Given the description of an element on the screen output the (x, y) to click on. 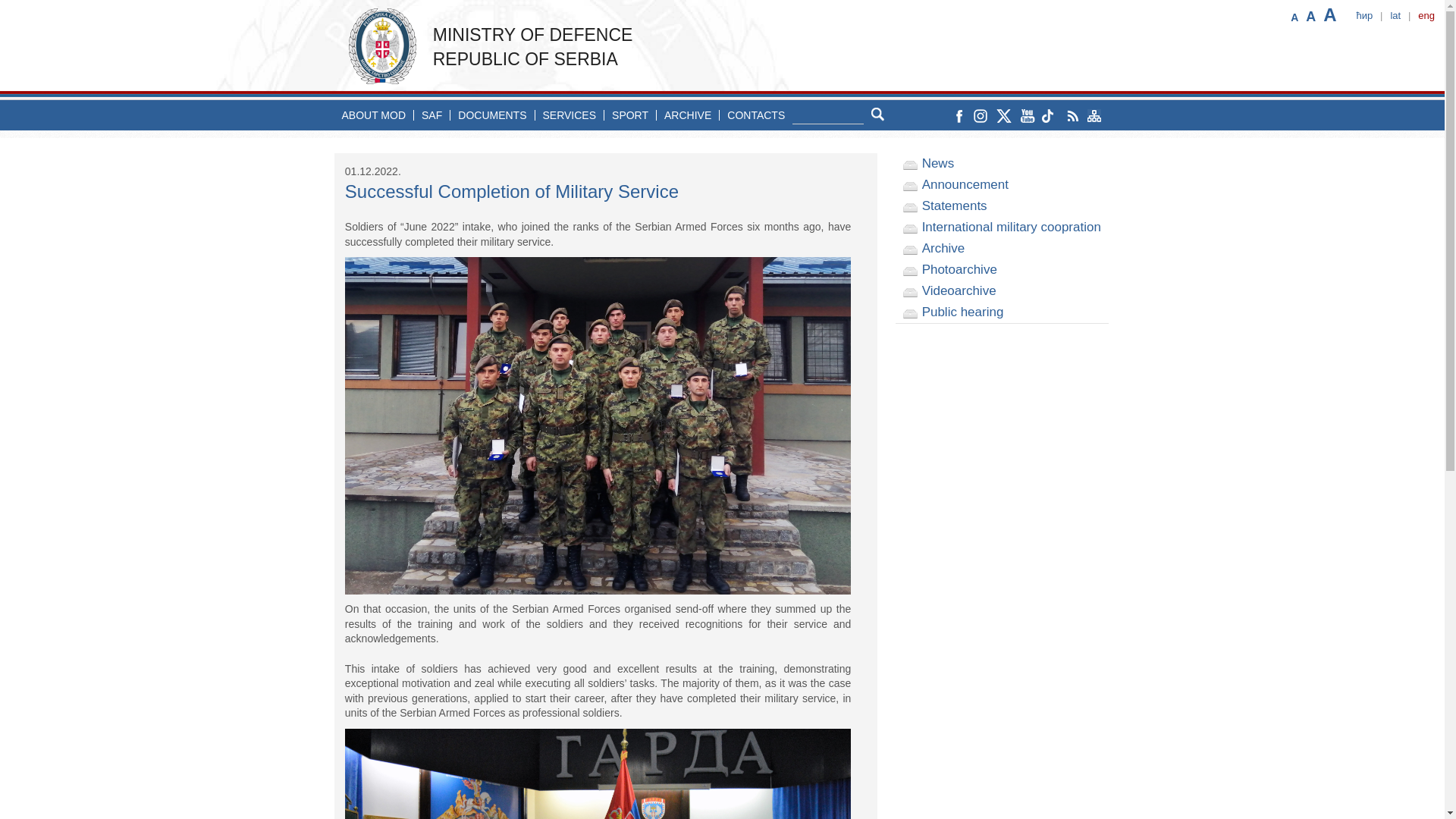
DOCUMENTS (491, 114)
SAF (431, 114)
lat (1395, 15)
ABOUT MOD (373, 114)
